Given the description of an element on the screen output the (x, y) to click on. 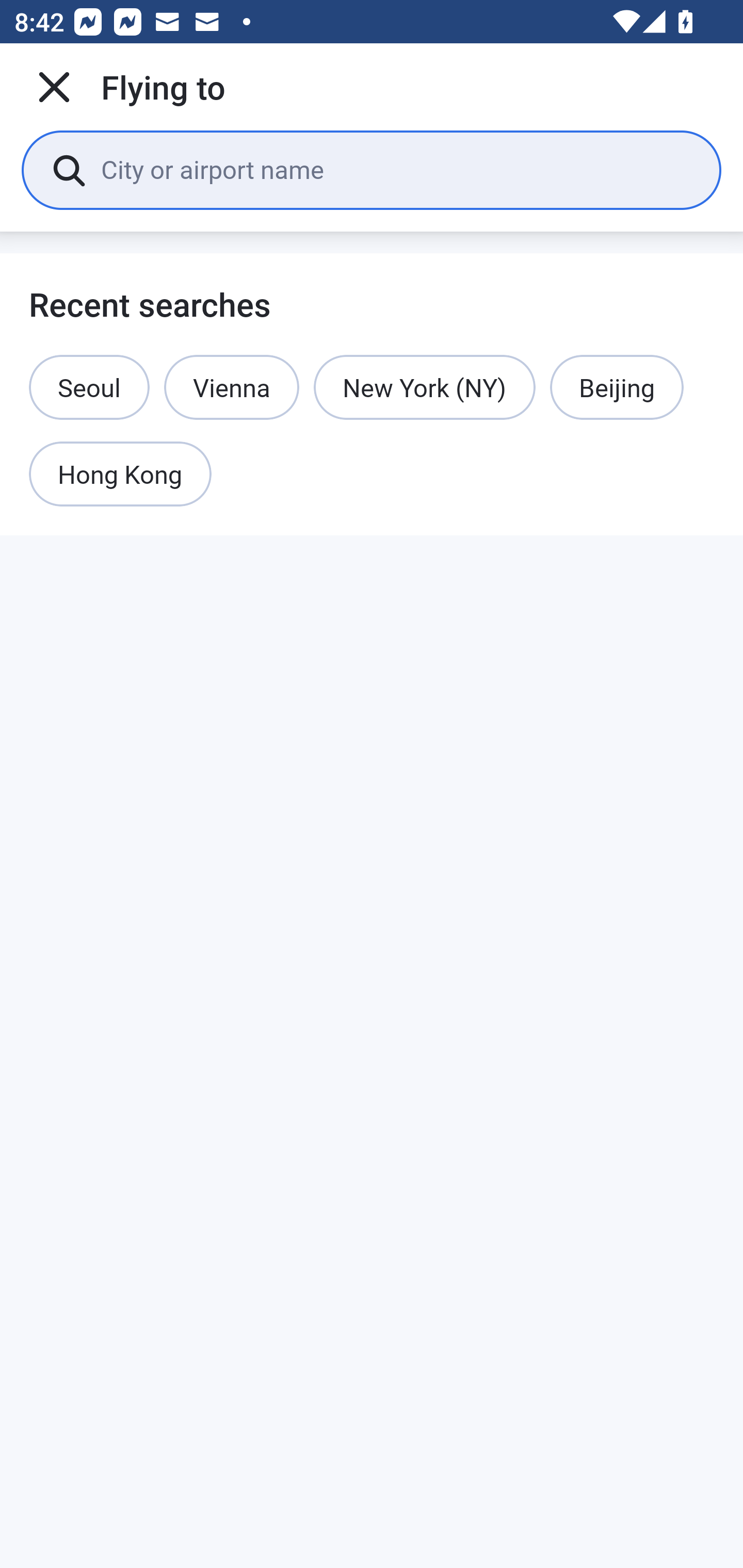
City or airport name (396, 169)
Seoul (88, 387)
Vienna (231, 387)
New York (NY) (424, 387)
Beijing (616, 387)
Hong Kong (119, 474)
